Given the description of an element on the screen output the (x, y) to click on. 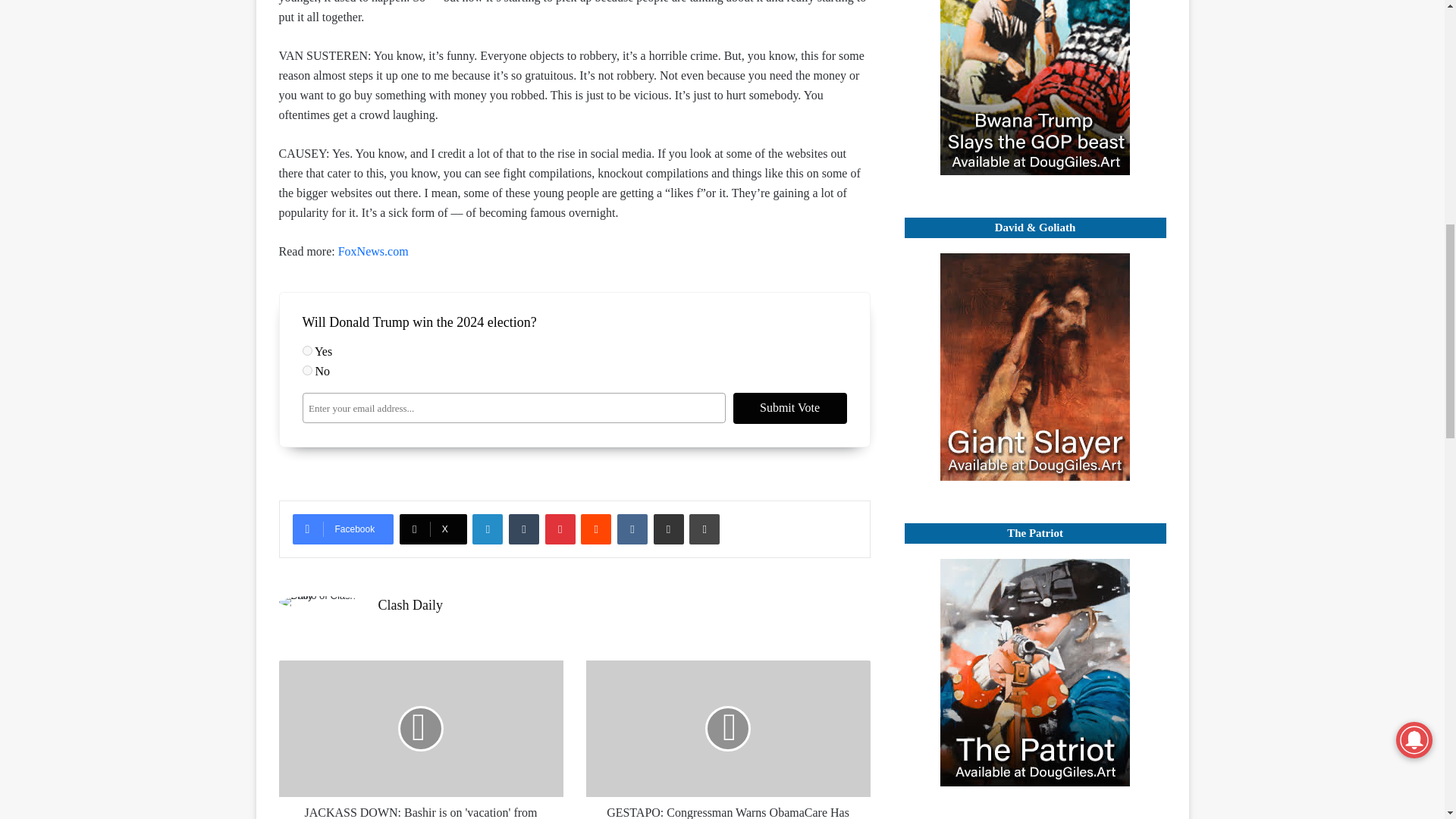
Tumblr (523, 529)
LinkedIn (486, 529)
Print (703, 529)
X (432, 529)
Facebook (343, 529)
10 (306, 370)
Reddit (595, 529)
VKontakte (632, 529)
FoxNews.com (373, 250)
Share via Email (668, 529)
Facebook (343, 529)
Reddit (595, 529)
Tumblr (523, 529)
Print (703, 529)
Share via Email (668, 529)
